Given the description of an element on the screen output the (x, y) to click on. 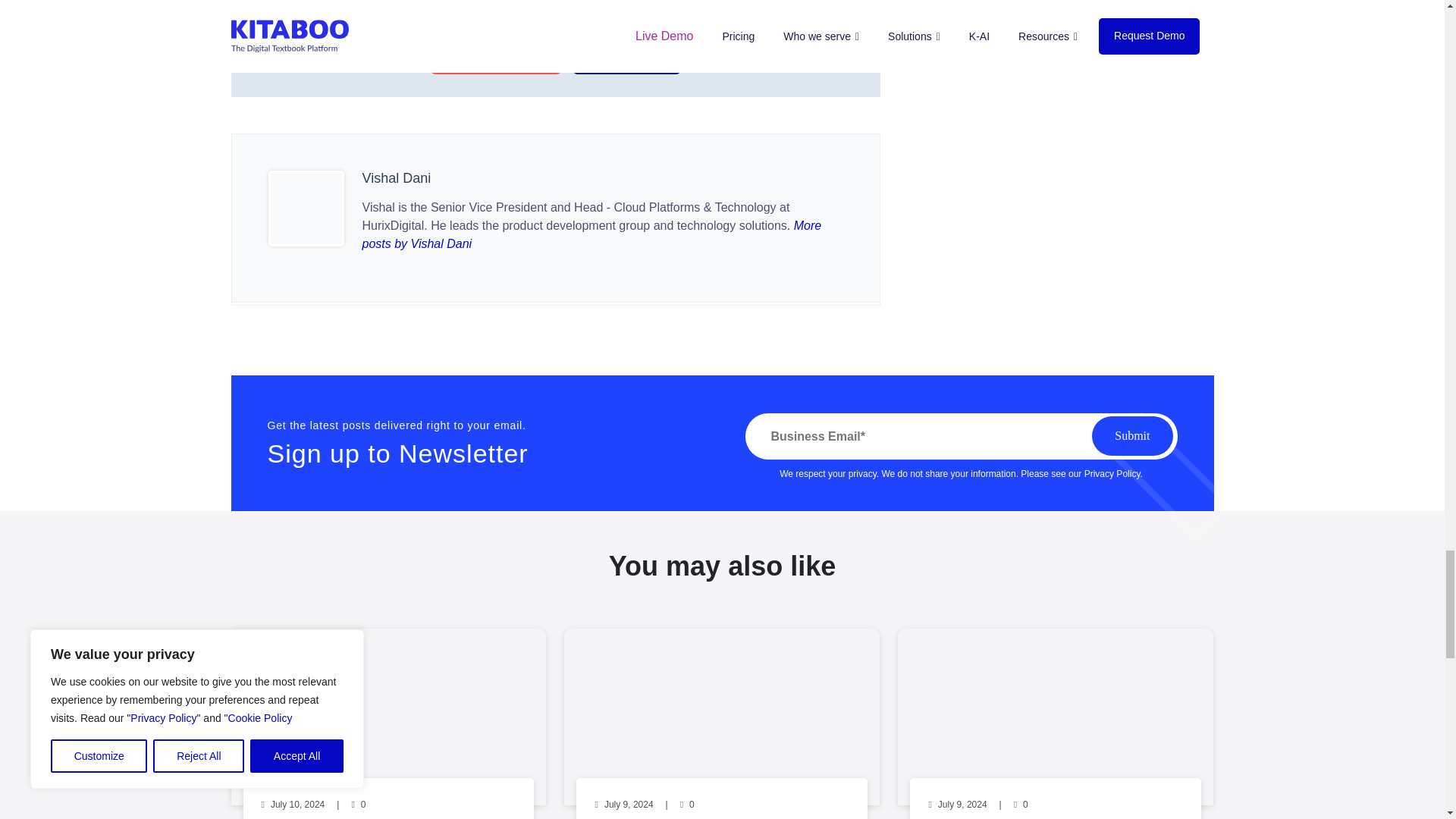
Submit (1132, 435)
